Given the description of an element on the screen output the (x, y) to click on. 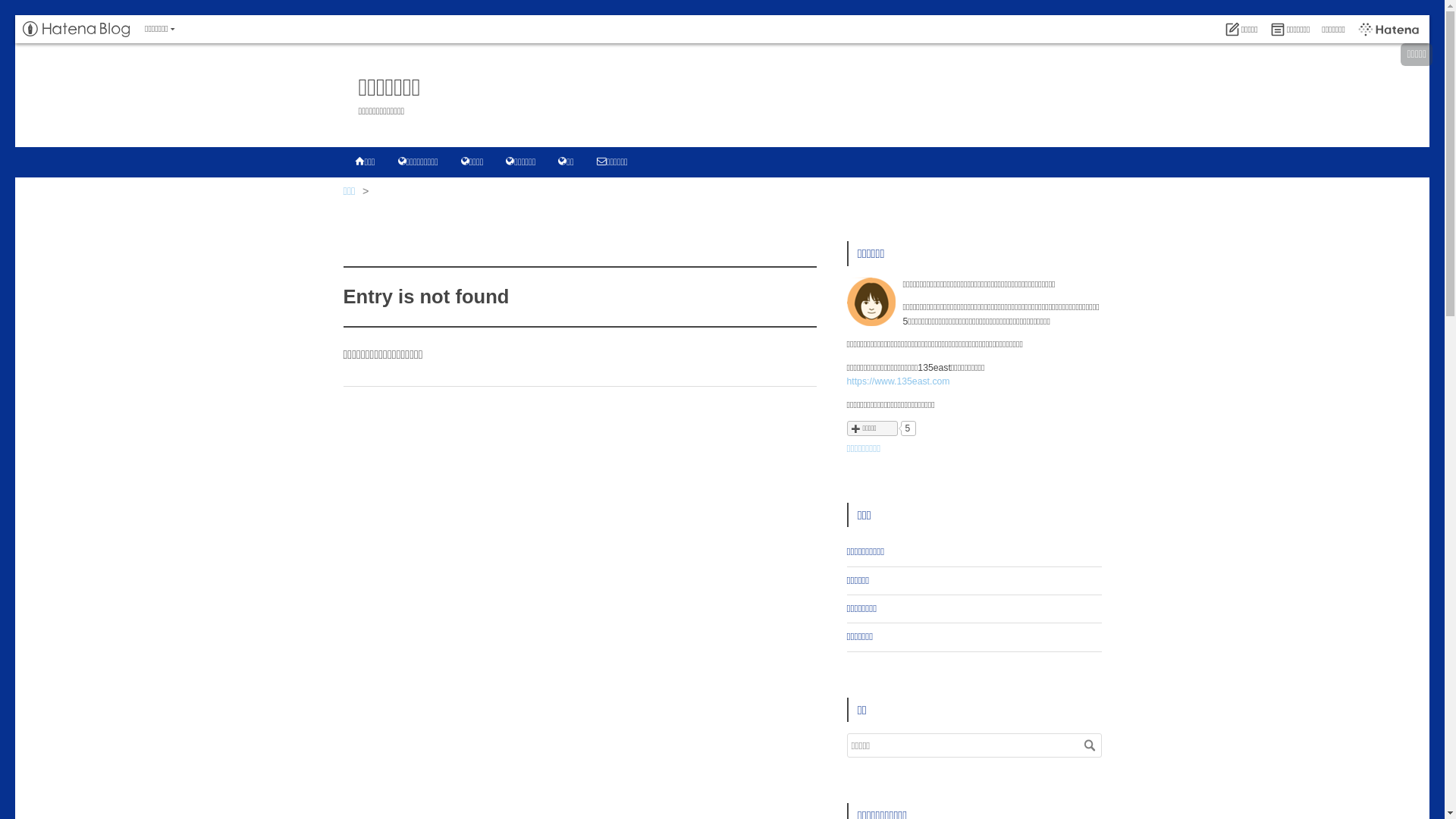
https://www.135east.com Element type: text (897, 381)
